Given the description of an element on the screen output the (x, y) to click on. 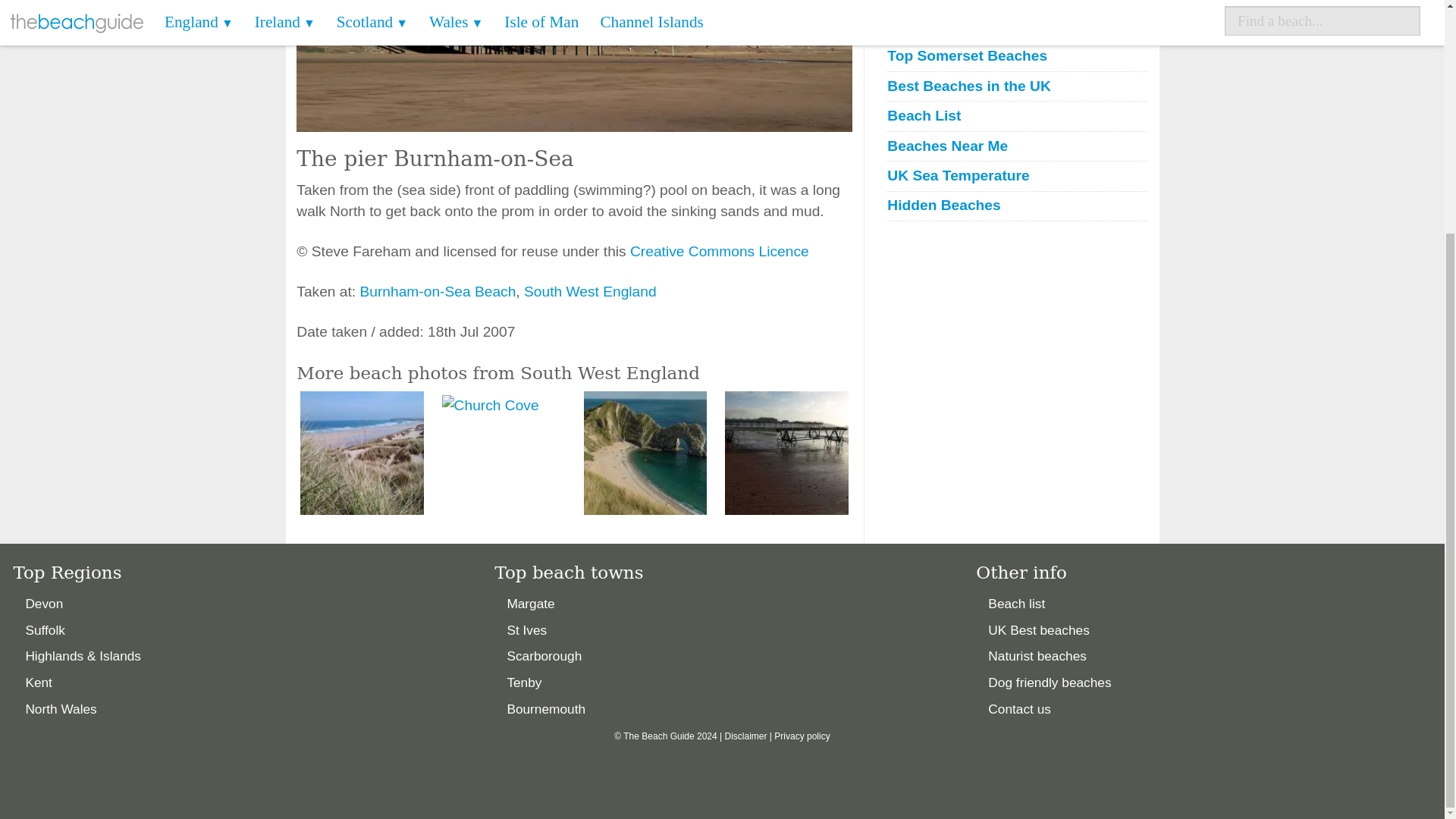
UK Sea Temperature (1016, 176)
Beach List (1016, 116)
Suffolk (44, 630)
Kent (38, 682)
Dog friendly Somerset Beaches (1016, 26)
Burnham-on-Sea Beach (437, 291)
Creative Commons Licence (719, 251)
Beaches Near Me (1016, 146)
Best Beaches in the UK (1016, 86)
North Wales (60, 708)
South West England (590, 291)
Hidden Beaches (1016, 205)
Top Somerset Beaches (1016, 56)
Devon (43, 603)
